Given the description of an element on the screen output the (x, y) to click on. 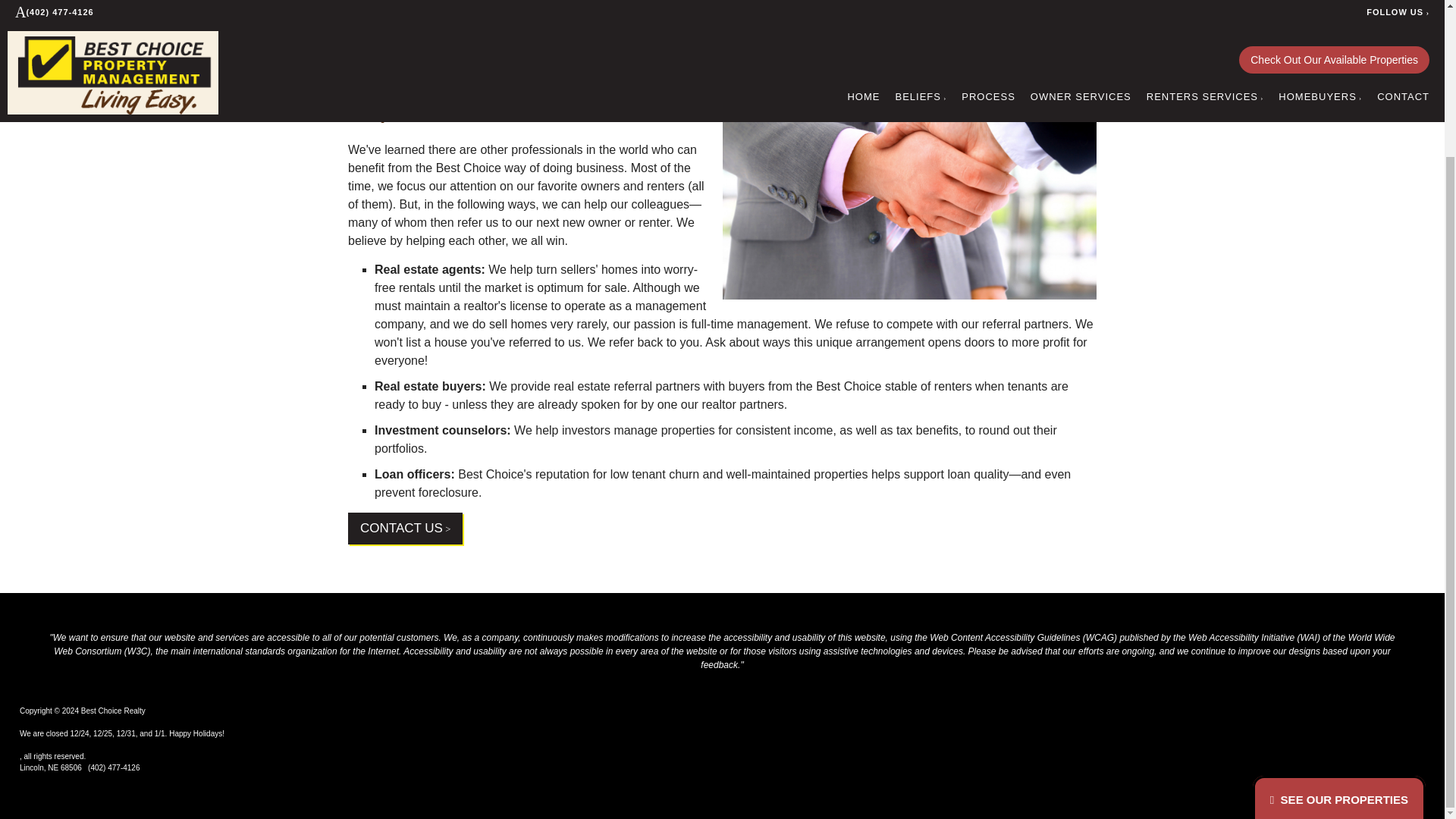
  SEE OUR PROPERTIES (1339, 616)
CONTACT US (405, 528)
